Given the description of an element on the screen output the (x, y) to click on. 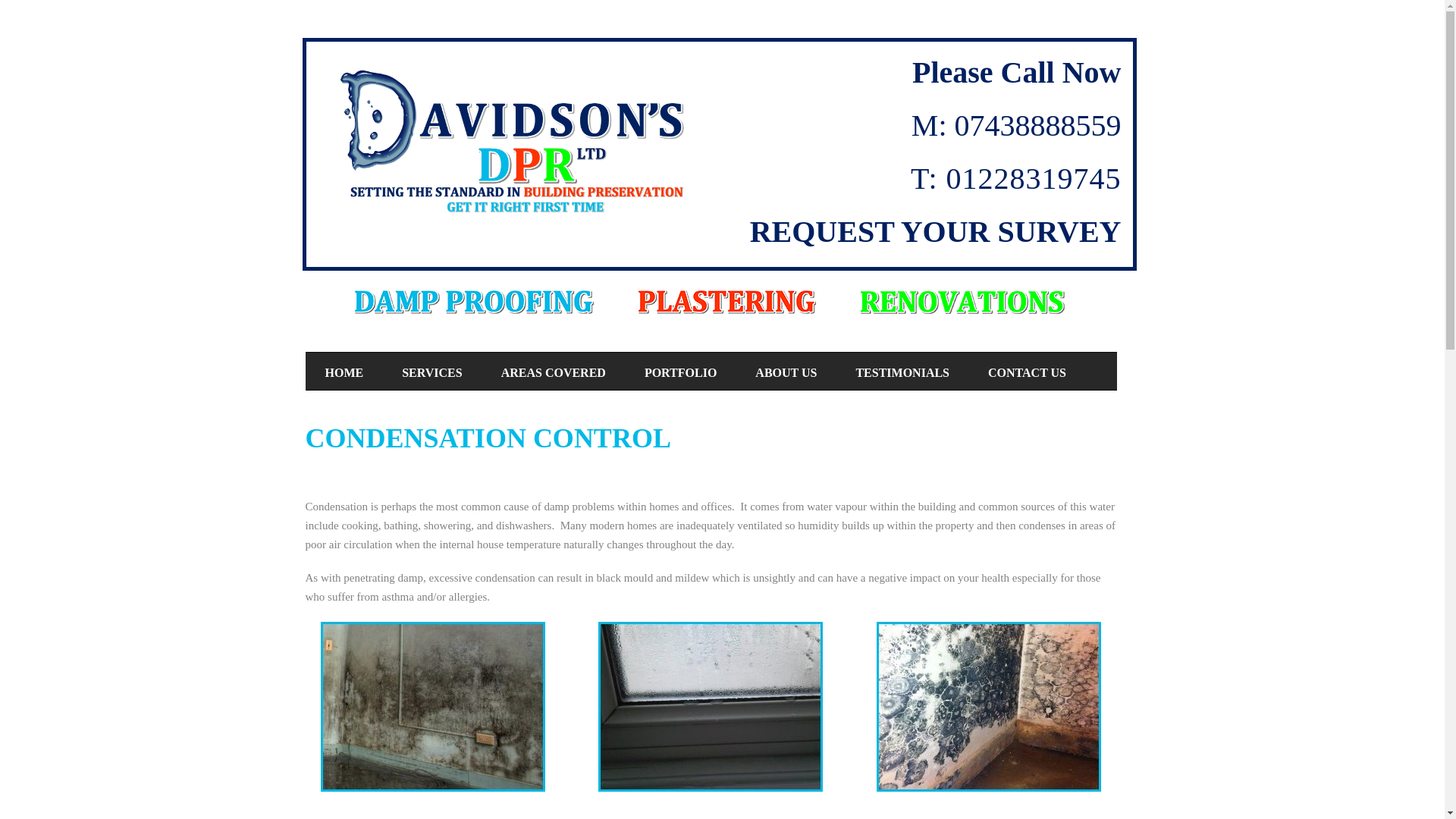
HOME (343, 371)
SERVICES (431, 371)
HOME (343, 371)
TESTIMONIALS (901, 371)
REQUEST YOUR SURVEY (935, 231)
davidons-dpr-banner (711, 302)
CONTACT US (1026, 371)
PORTFOLIO (680, 371)
AREAS COVERED (552, 371)
REQUEST A SURVEY (384, 409)
